Given the description of an element on the screen output the (x, y) to click on. 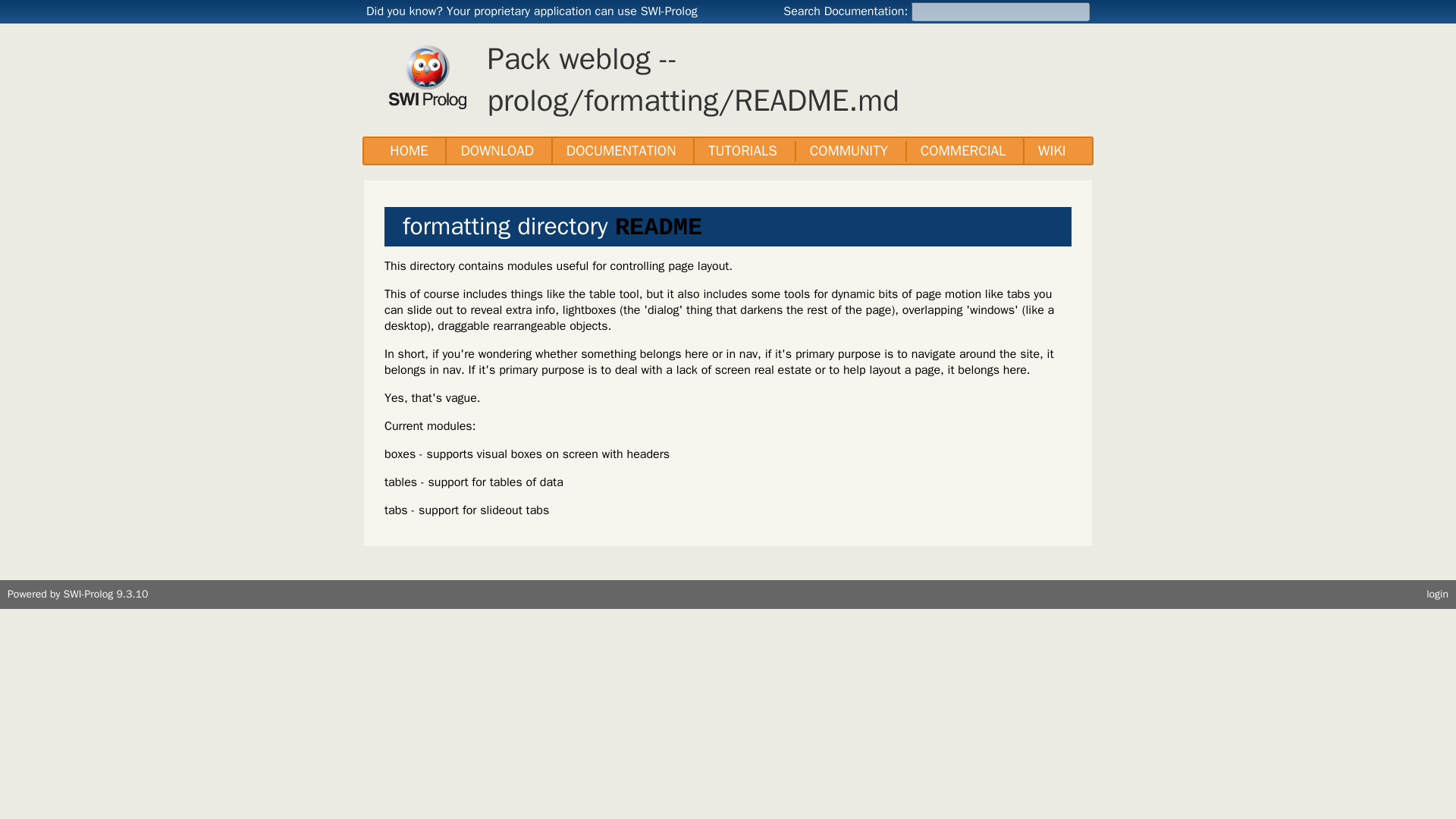
Click to create README (657, 227)
HOME (409, 150)
Your proprietary application can use SWI-Prolog (571, 11)
SWI-Prolog owl logo (426, 76)
